Given the description of an element on the screen output the (x, y) to click on. 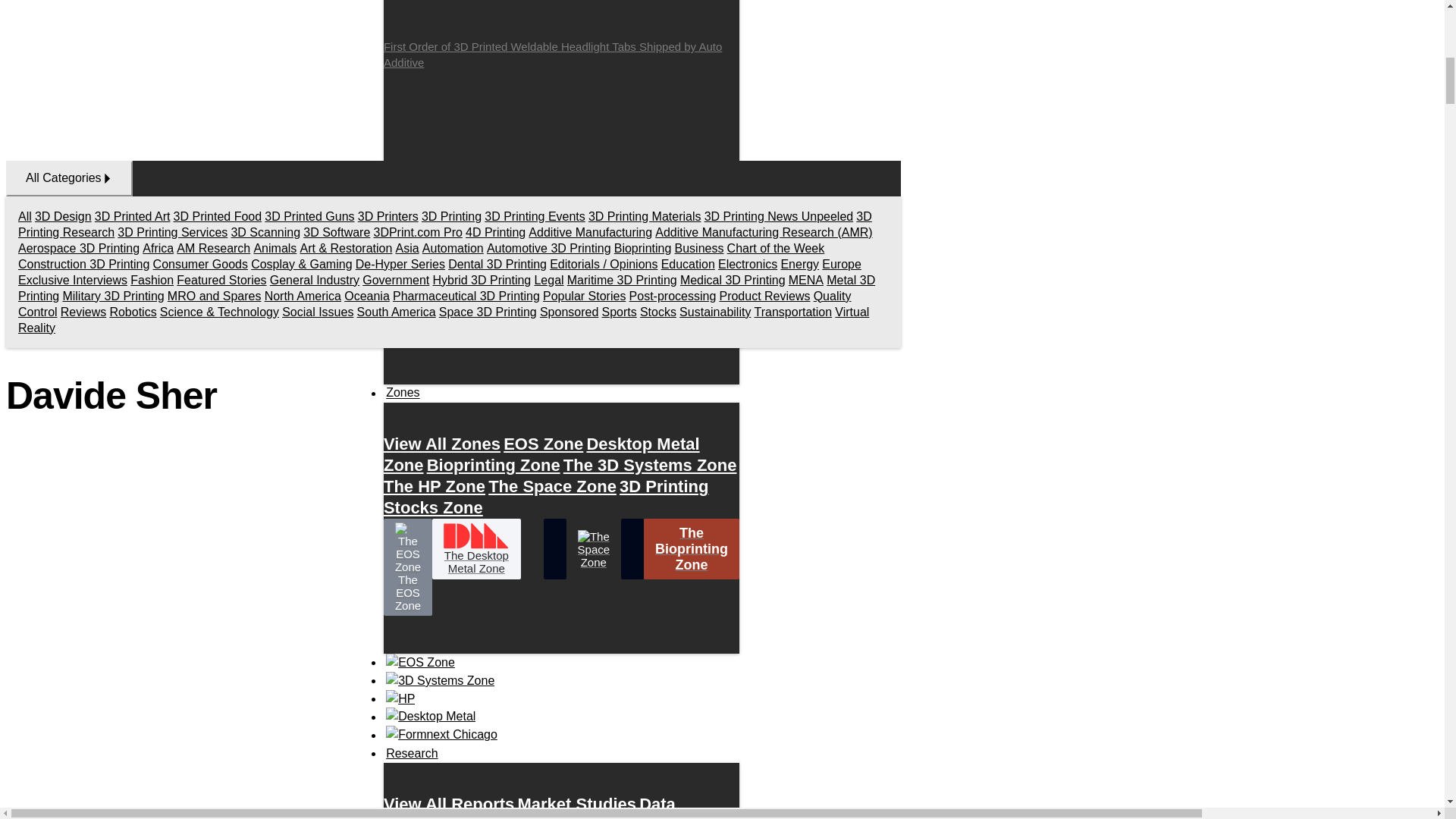
The EOS Zone (408, 566)
The Space Zone (551, 486)
The Desktop Metal Zone (475, 548)
The HP Zone (434, 486)
Bioprinting Zone (493, 464)
View All Zones (442, 443)
3D Printing Stocks Zone (545, 497)
Zones (403, 392)
Desktop Metal Zone (542, 454)
The 3D Systems Zone (649, 464)
EOS Zone (543, 443)
